Given the description of an element on the screen output the (x, y) to click on. 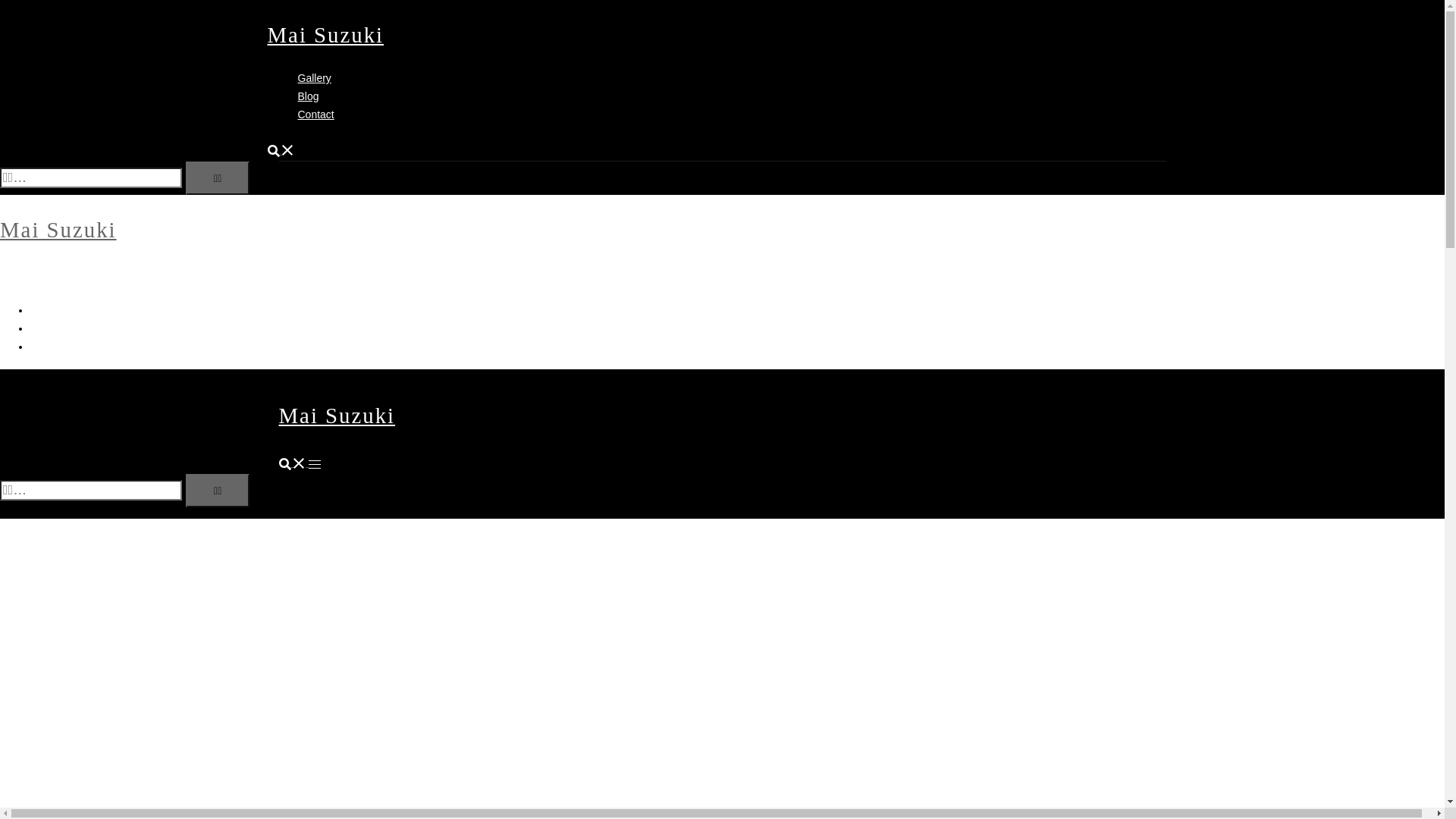
Mai Suzuki Element type: text (337, 415)
Gallery Element type: text (46, 309)
Blog Element type: text (307, 96)
Blog Element type: text (40, 328)
Contact Element type: text (48, 346)
Contact Element type: text (315, 114)
Mai Suzuki Element type: text (324, 34)
Mai Suzuki Element type: text (58, 229)
Gallery Element type: text (313, 78)
